Given the description of an element on the screen output the (x, y) to click on. 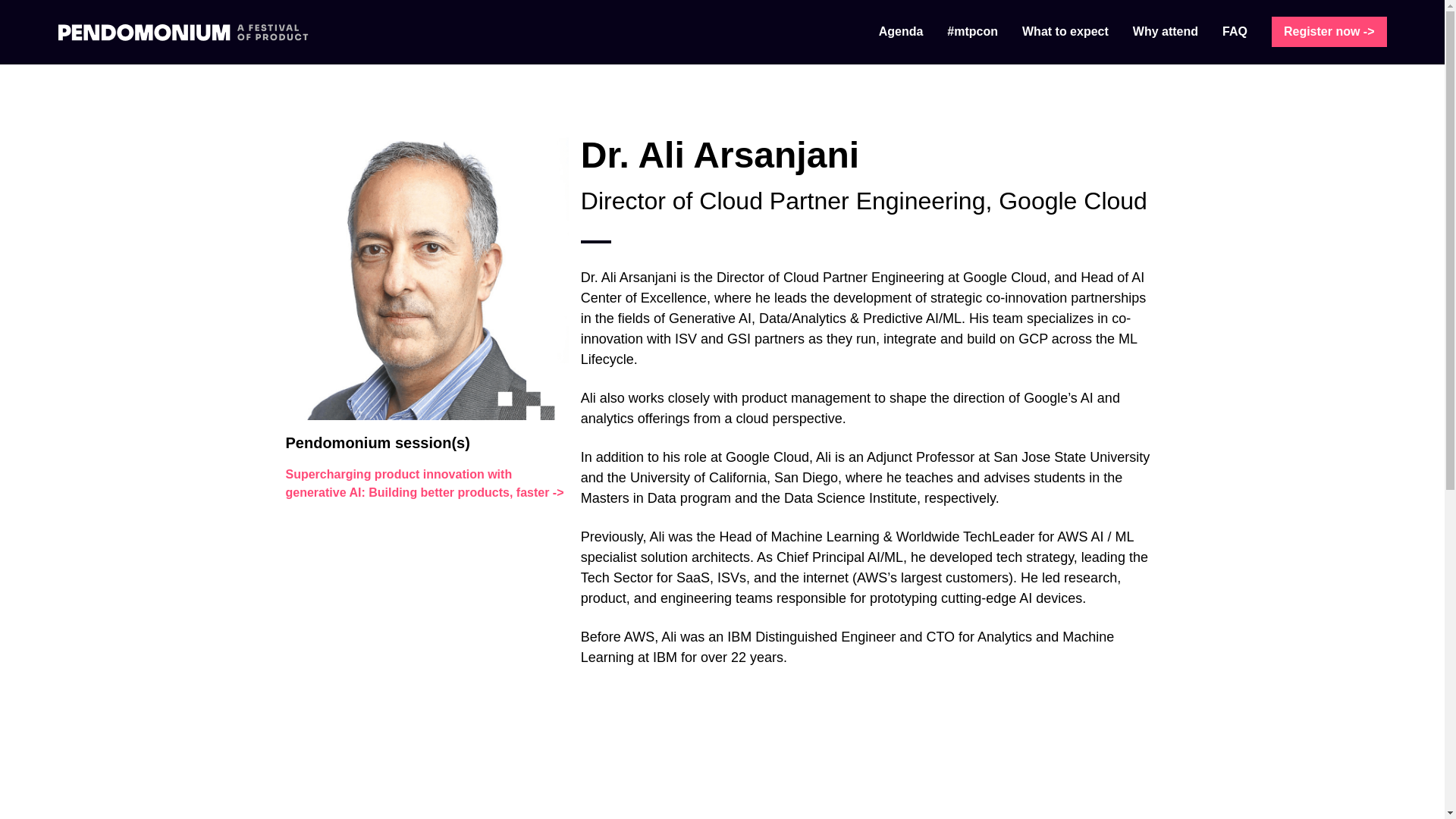
Agenda (901, 31)
What to expect (1065, 31)
FAQ (1235, 31)
Why attend (1165, 31)
